Given the description of an element on the screen output the (x, y) to click on. 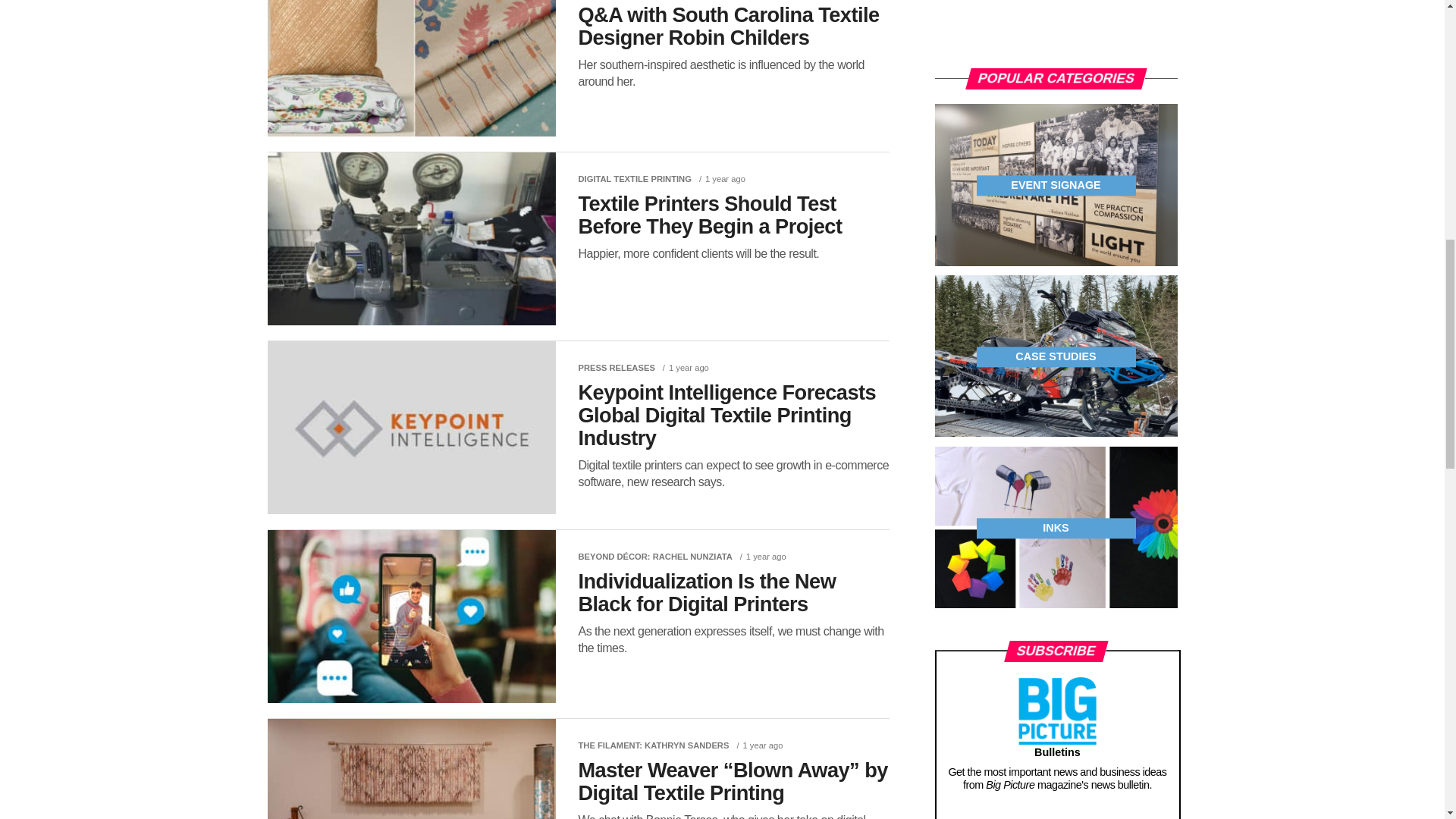
3rd party ad content (1047, 27)
